Given the description of an element on the screen output the (x, y) to click on. 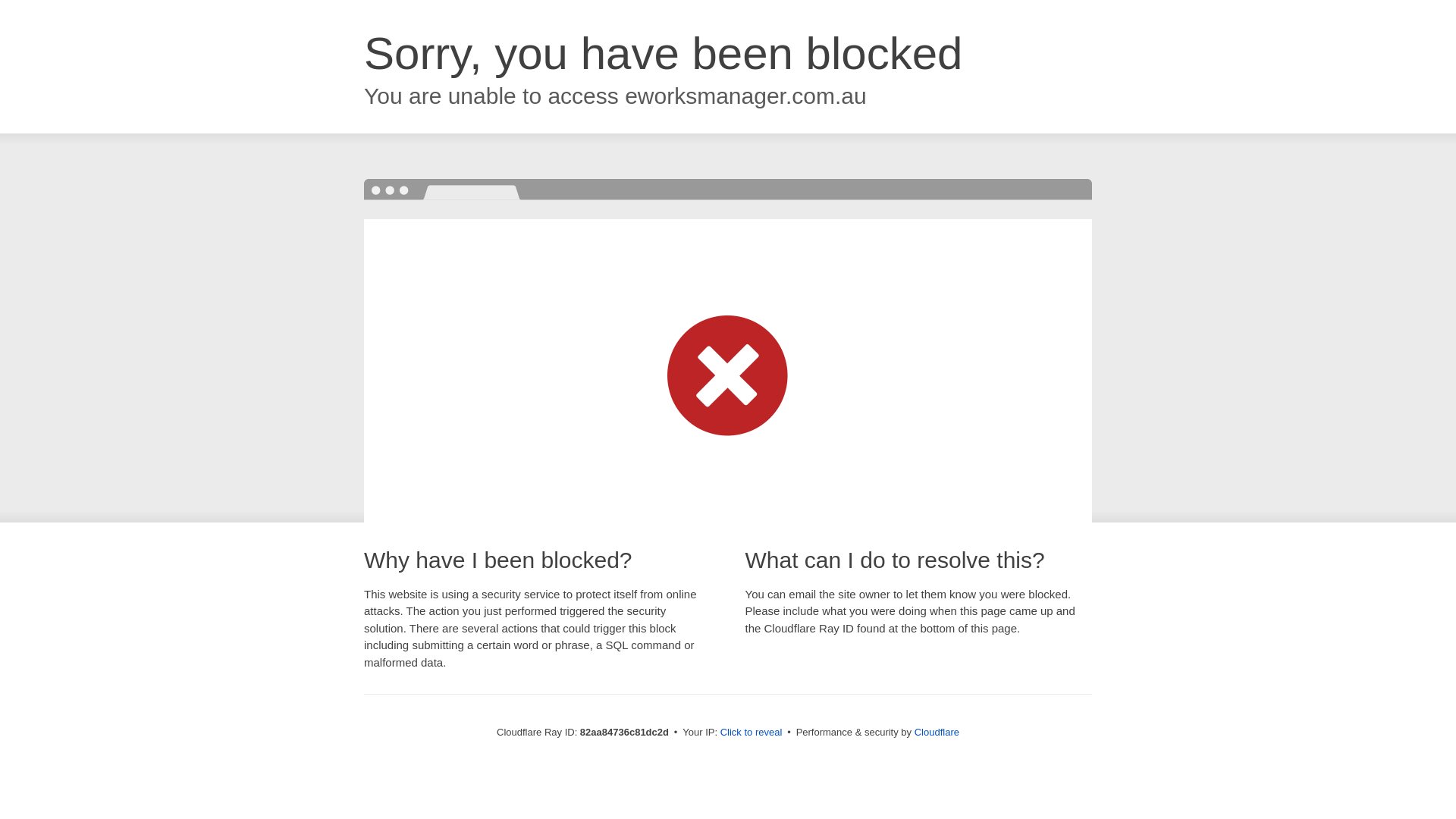
Cloudflare Element type: text (936, 731)
Click to reveal Element type: text (751, 732)
